Given the description of an element on the screen output the (x, y) to click on. 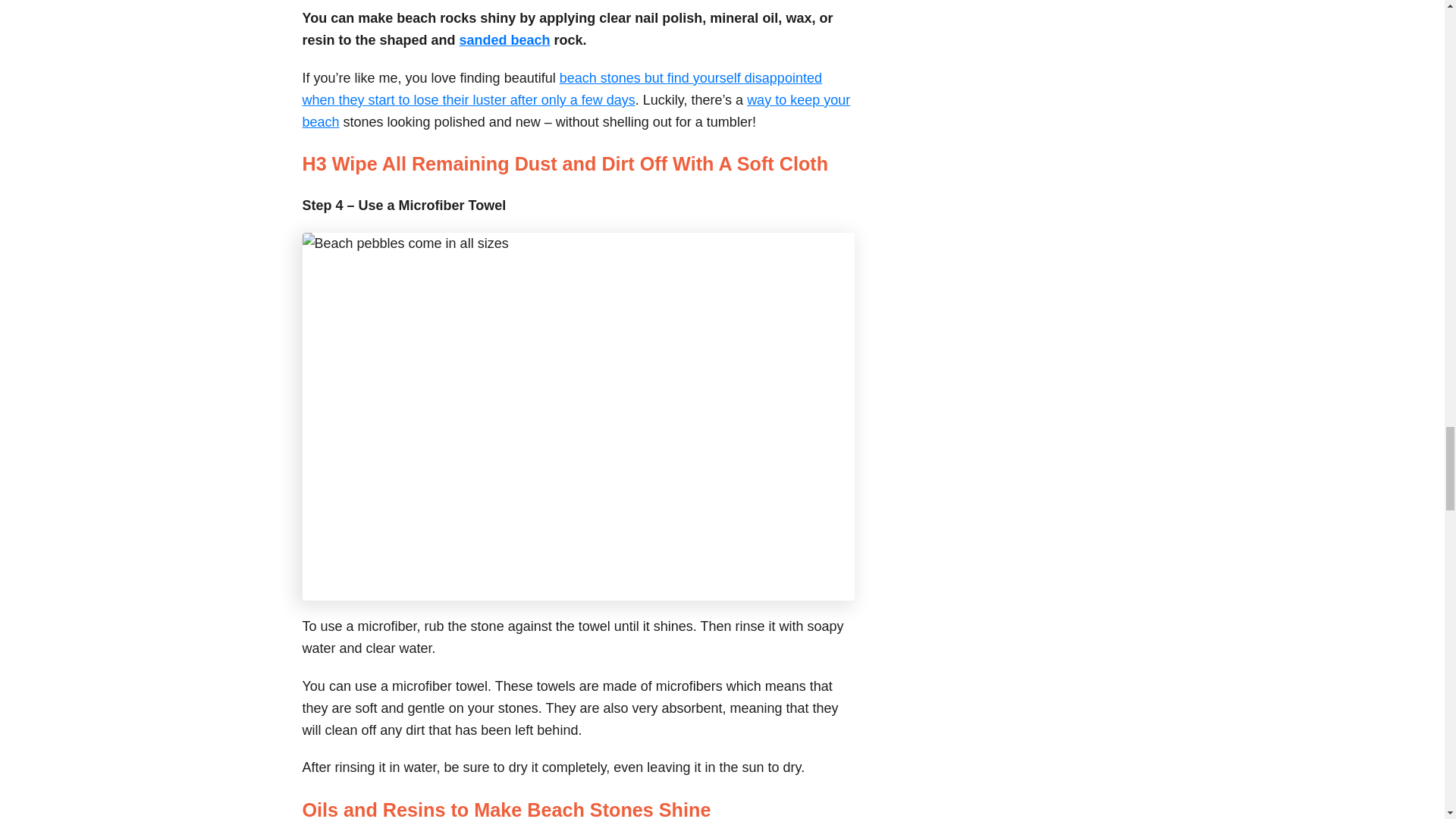
way to keep your beach (575, 110)
sanded beach (505, 39)
